Given the description of an element on the screen output the (x, y) to click on. 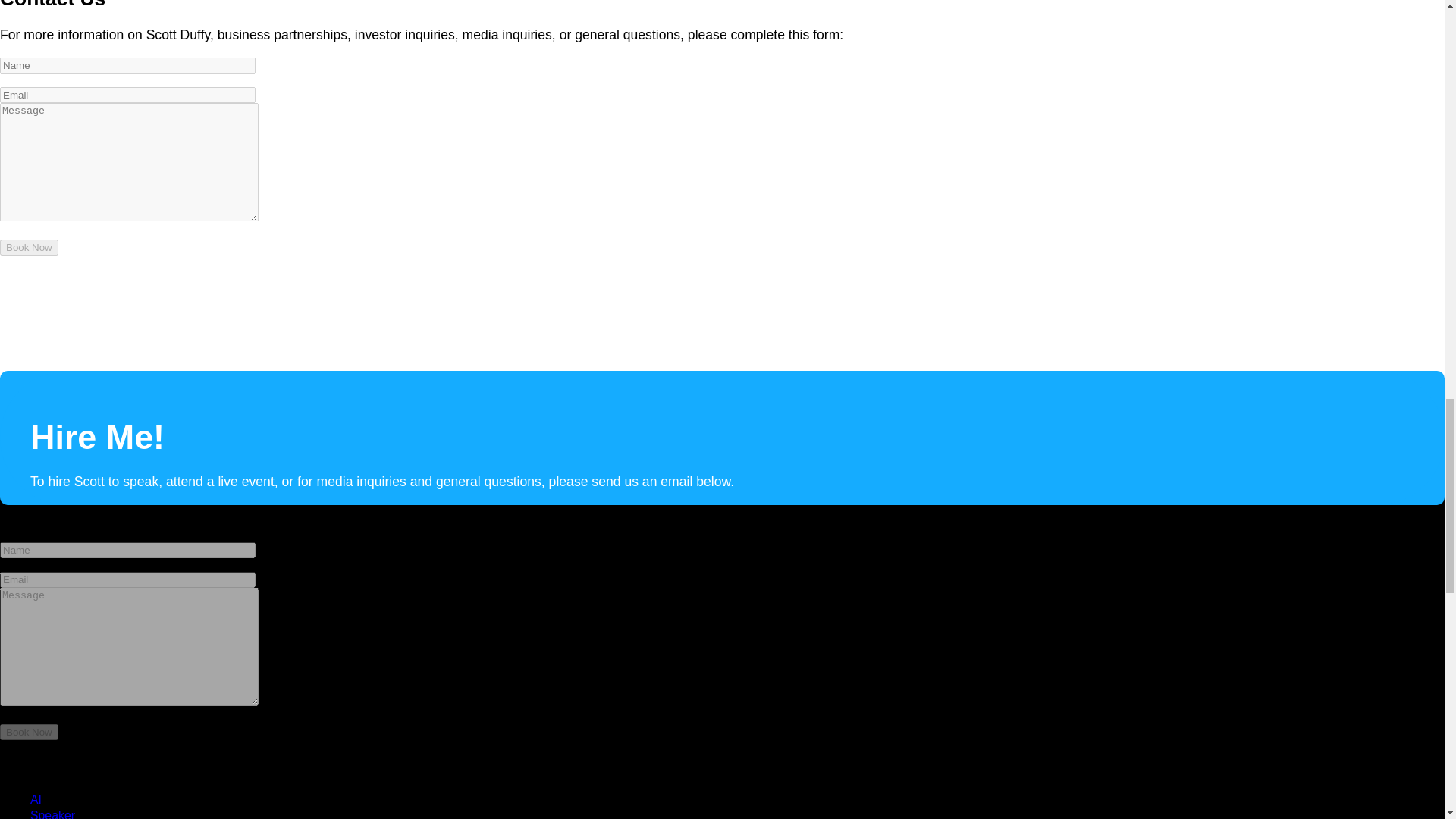
Book Now (29, 247)
Book Now (29, 731)
Book Now (29, 731)
AI (36, 798)
Speaker (52, 813)
Book Now (29, 247)
